Given the description of an element on the screen output the (x, y) to click on. 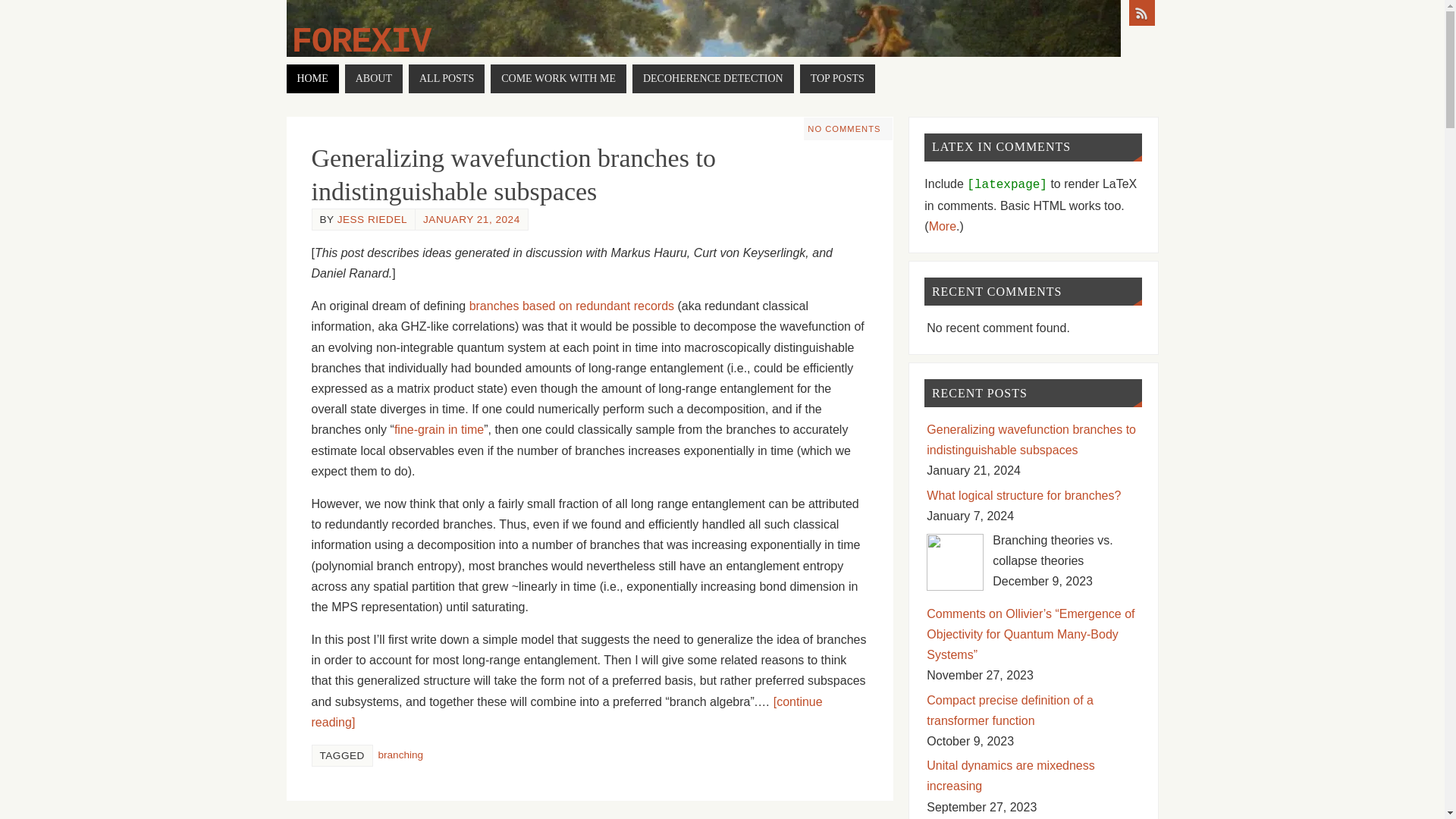
View all posts by Jess Riedel (372, 219)
ALL POSTS (446, 78)
branches based on redundant records (571, 305)
NO COMMENTS (844, 128)
COME WORK WITH ME (558, 78)
DECOHERENCE DETECTION (712, 78)
HOME (312, 78)
JANUARY 21, 2024 (471, 219)
FOREXIV (360, 42)
RSS (1141, 12)
